Given the description of an element on the screen output the (x, y) to click on. 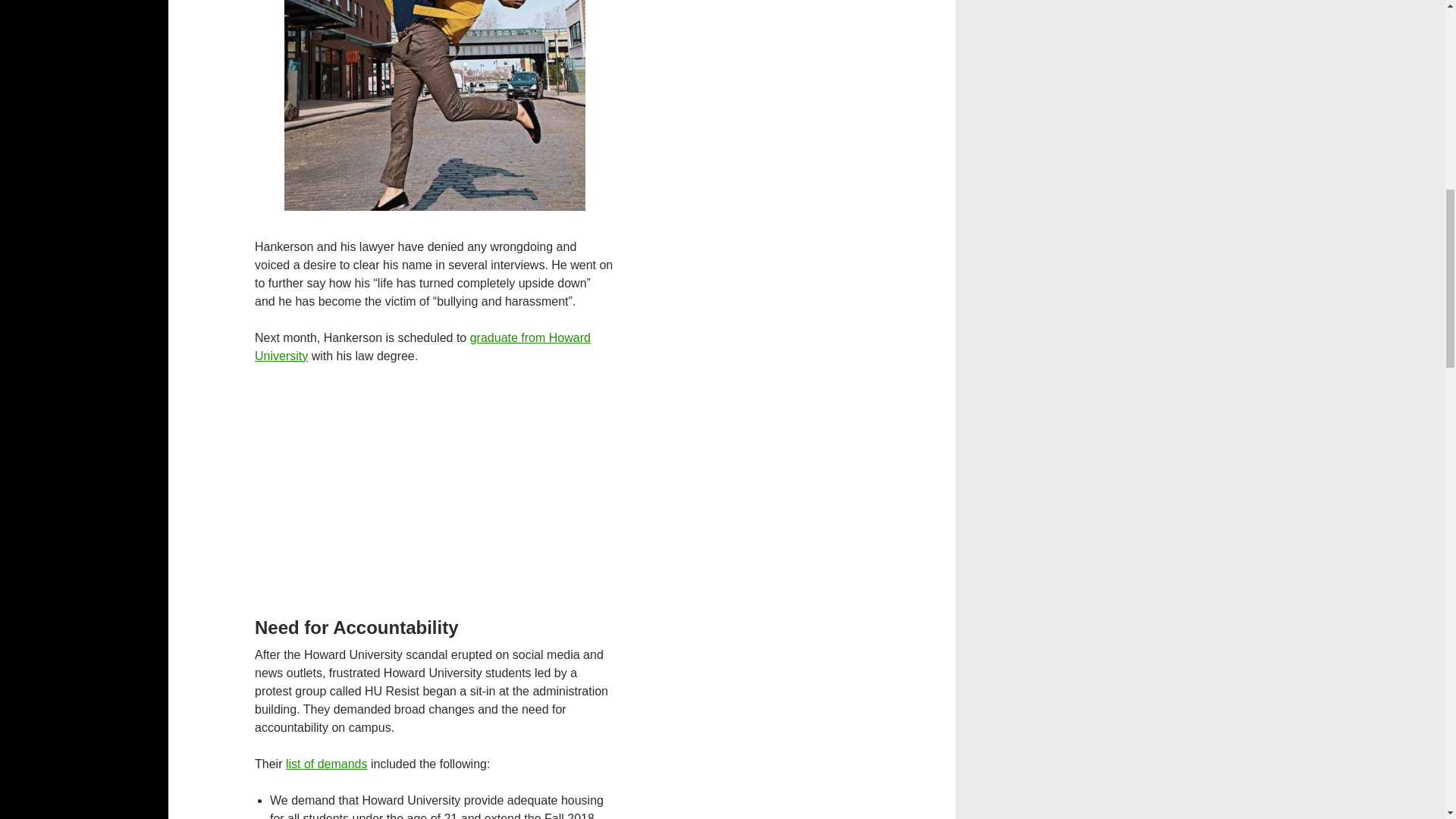
list of demands (326, 763)
graduate from Howard University (422, 346)
Howard Support (422, 346)
